Given the description of an element on the screen output the (x, y) to click on. 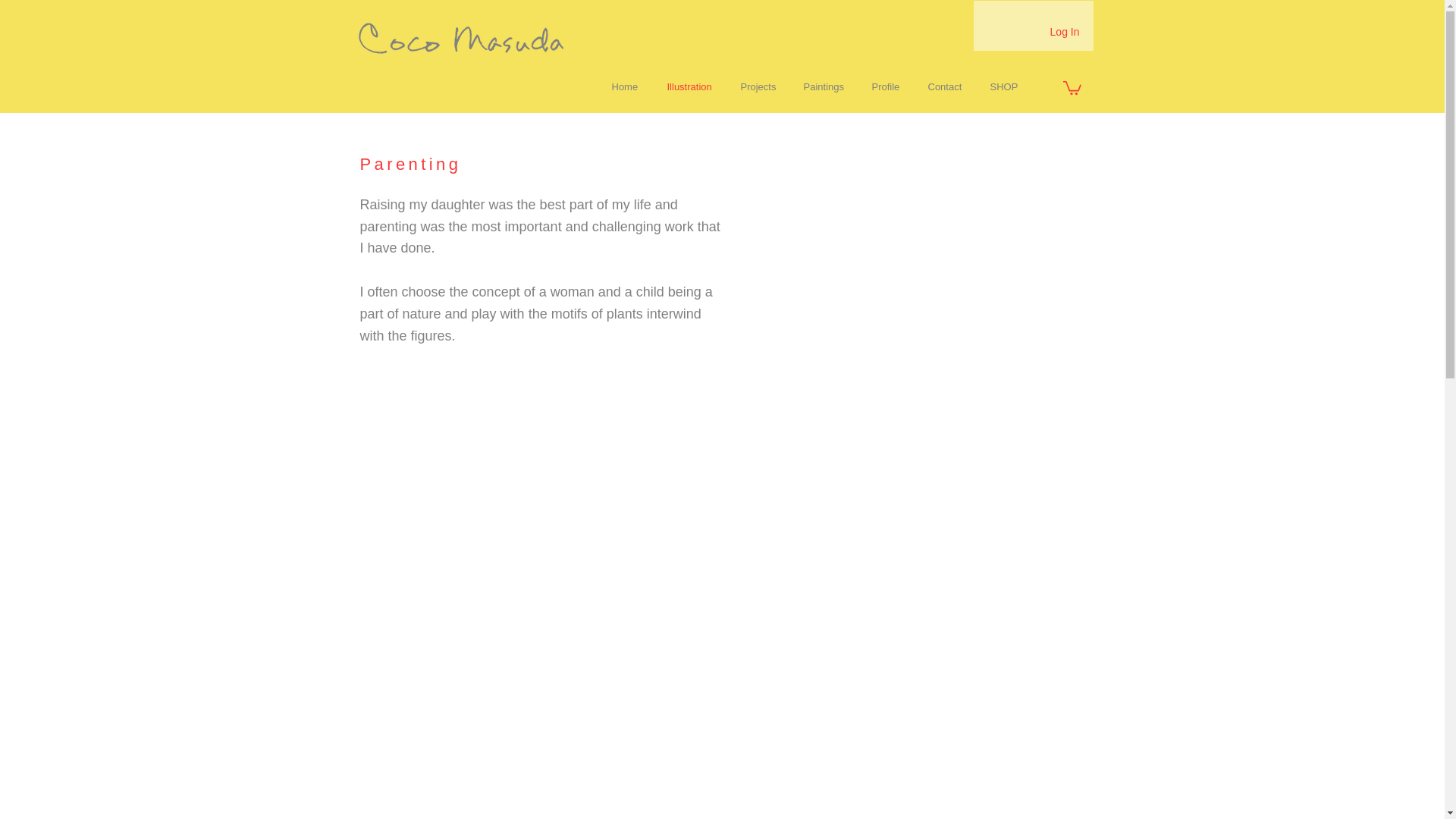
SHOP (1005, 86)
Projects (760, 86)
Illustration (692, 86)
Home (627, 86)
Profile (887, 86)
Log In (1064, 32)
Paintings (826, 86)
Contact (946, 86)
